Given the description of an element on the screen output the (x, y) to click on. 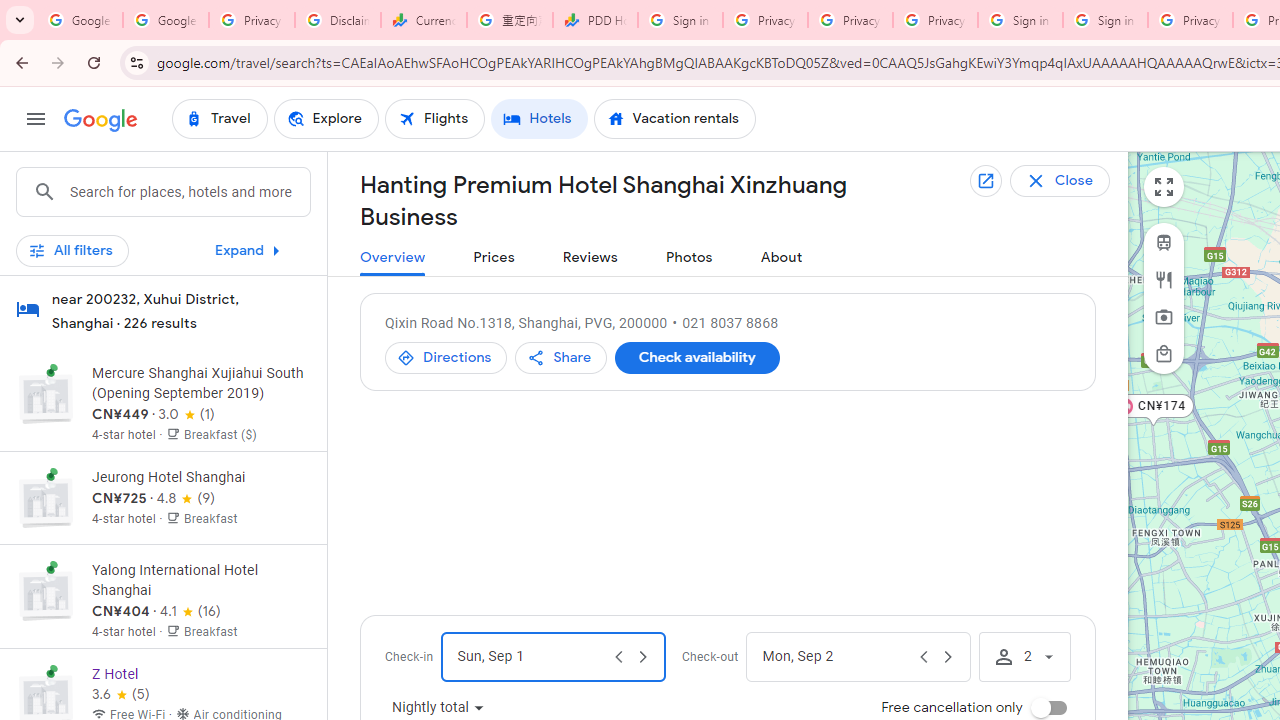
Flights (435, 118)
Attractions (1163, 317)
Transit (1163, 242)
About (781, 258)
Currencies - Google Finance (424, 20)
Privacy Checkup (935, 20)
4.1 out of 5 stars from 16 reviews (189, 611)
